Given the description of an element on the screen output the (x, y) to click on. 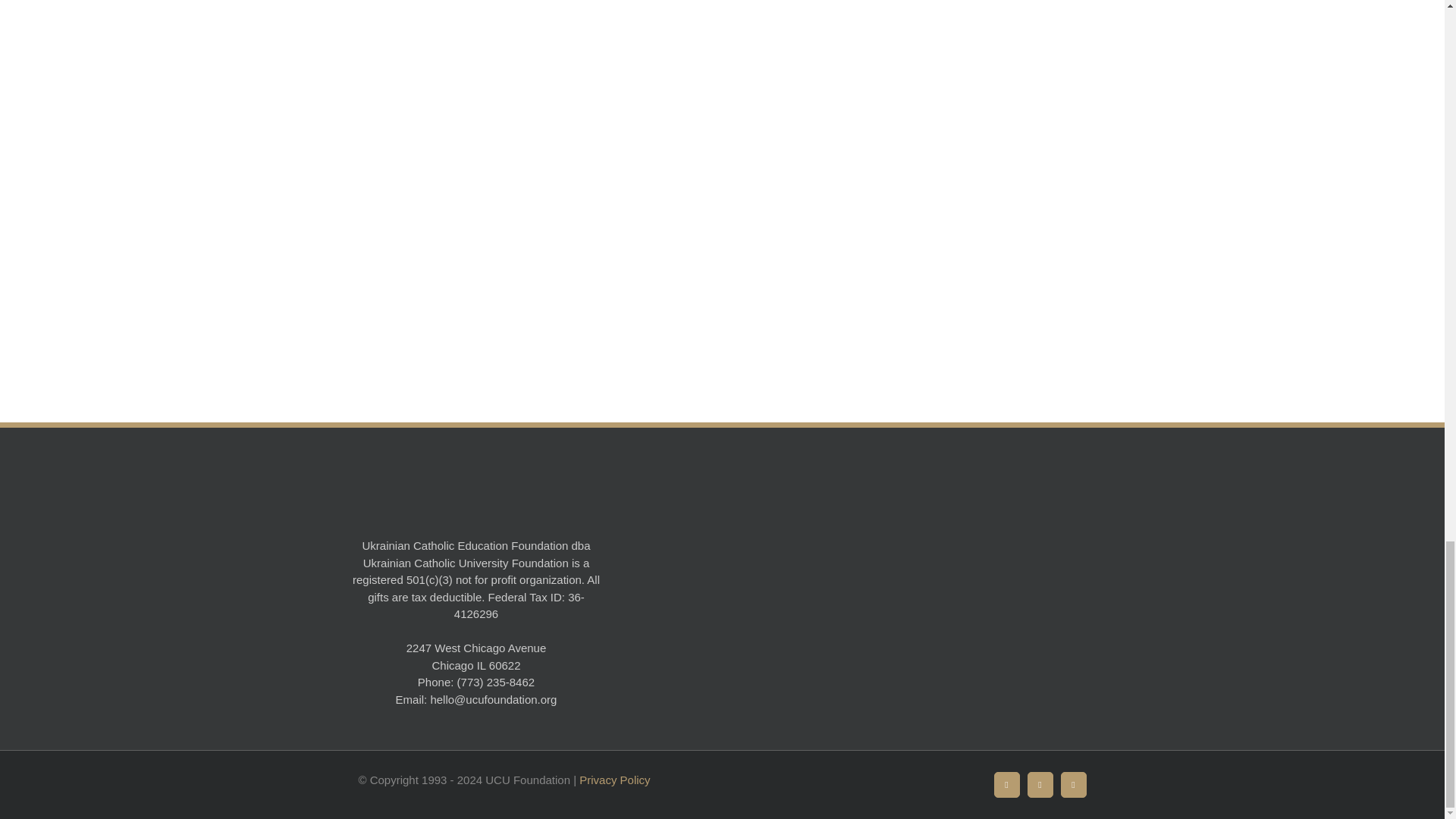
YouTube (1039, 784)
Email (1073, 784)
Facebook (1007, 784)
